Given the description of an element on the screen output the (x, y) to click on. 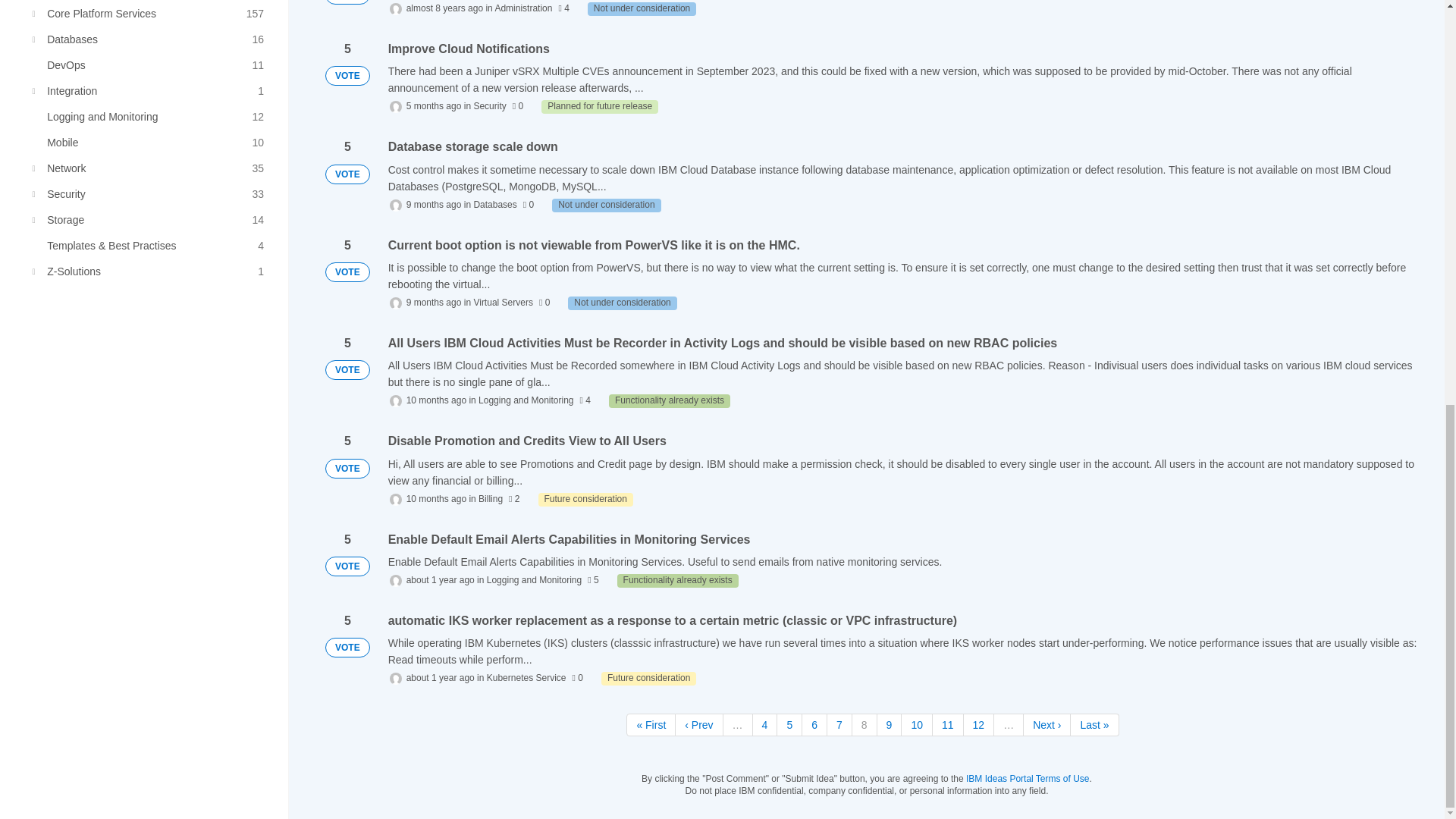
Not under consideration (606, 205)
Not under consideration (641, 8)
Future consideration (585, 499)
Not under consideration (622, 303)
Planned for future release (599, 106)
Functionality already exists (669, 400)
Functionality already exists (677, 581)
Future consideration (150, 13)
